Given the description of an element on the screen output the (x, y) to click on. 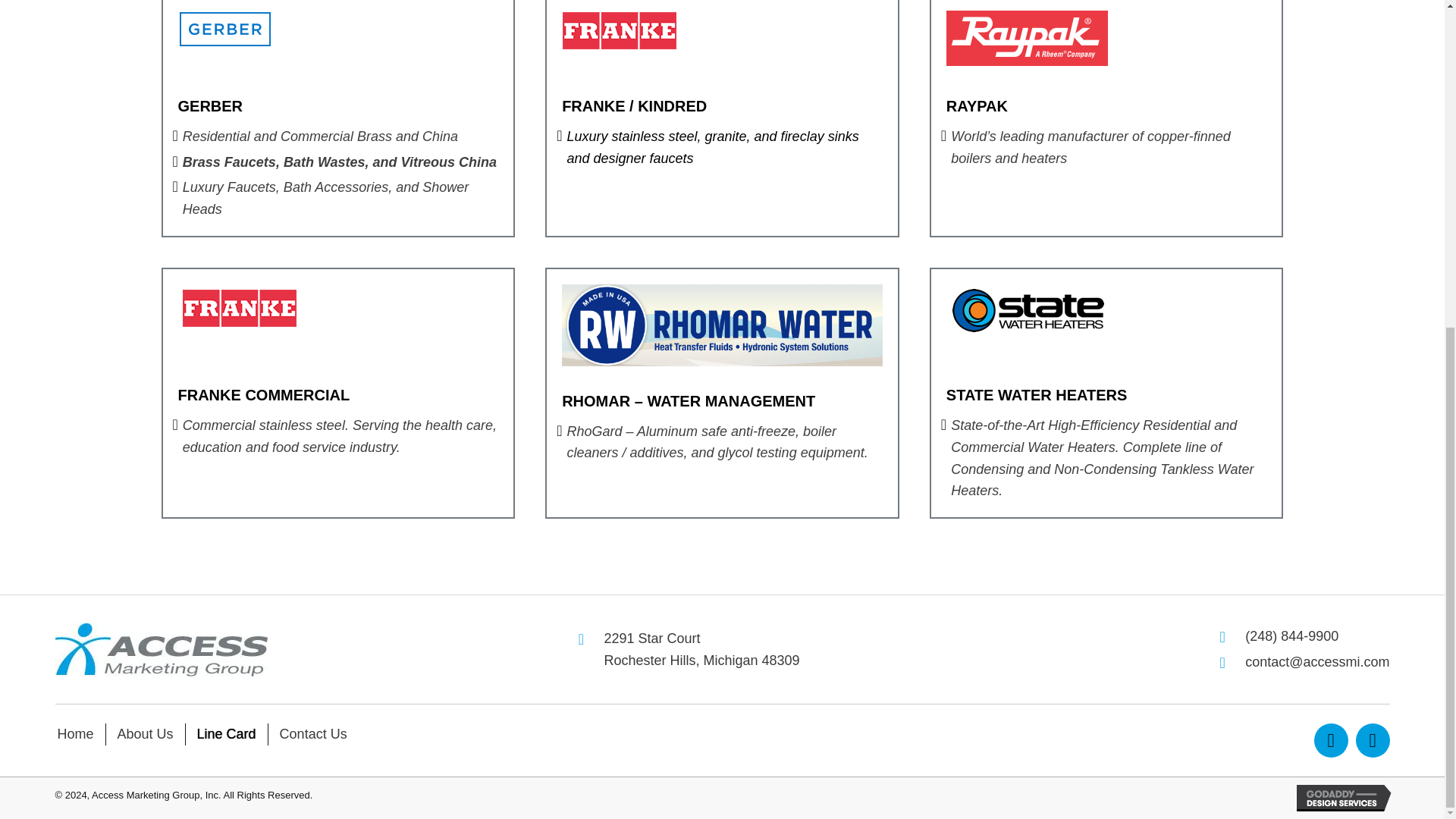
Access Marketing Group, Inc (722, 325)
GERBER (210, 105)
Access Marketing Group, Inc (239, 307)
RAYPAK (976, 105)
Contact Us (312, 734)
Home (74, 734)
Access Marketing Group, Inc (701, 649)
Line Card (160, 649)
Facebook (226, 734)
STATE WATER HEATERS (1330, 740)
About Us (1036, 394)
Access Marketing Group, Inc (145, 734)
FRANKE COMMERCIAL (619, 30)
Access Marketing Group, Inc (263, 394)
